Given the description of an element on the screen output the (x, y) to click on. 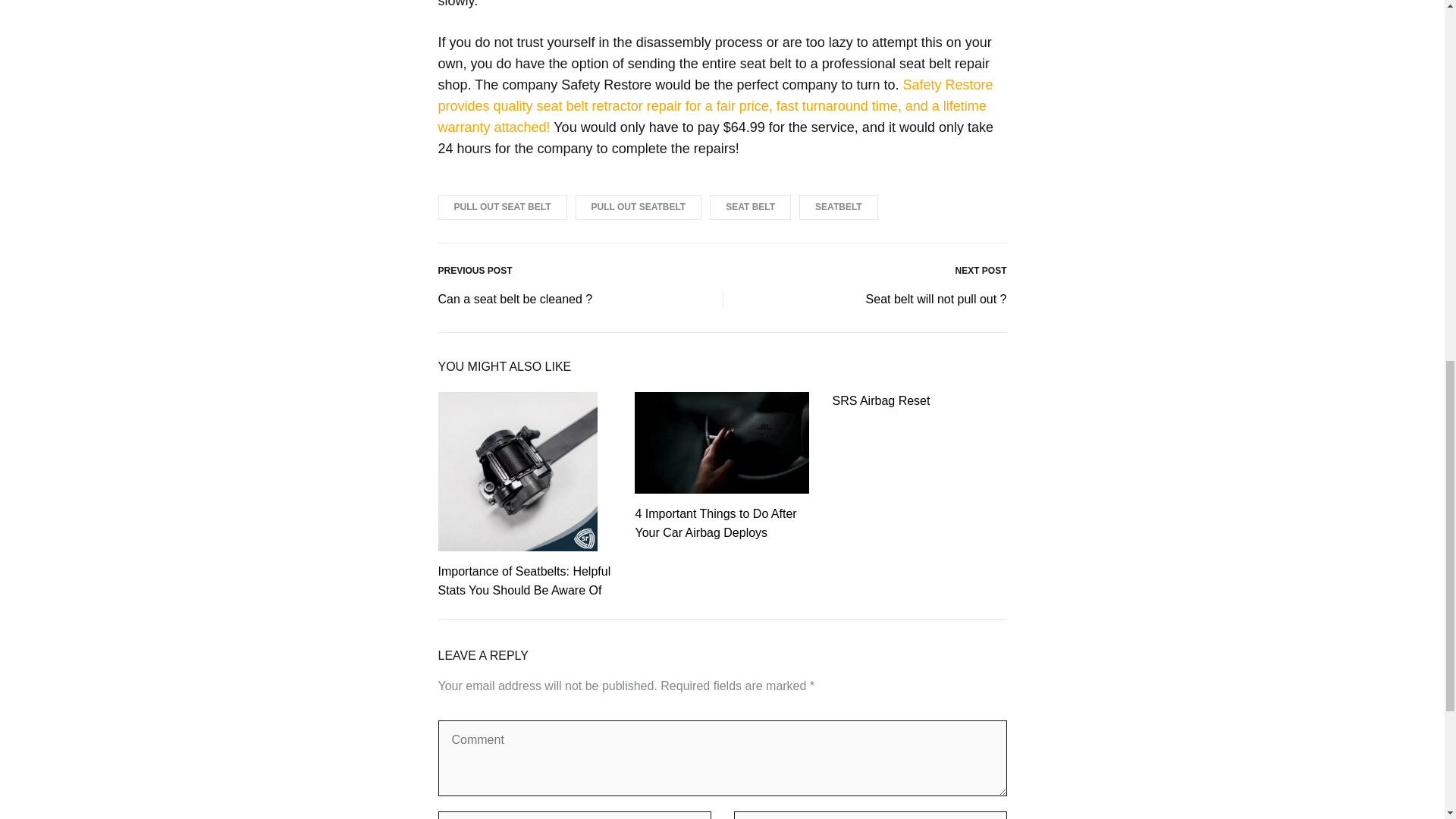
Seat belt will not pull out ? (936, 299)
SEATBELT (838, 207)
SRS Airbag Reset (880, 400)
PULL OUT SEAT BELT (502, 207)
PULL OUT SEATBELT (638, 207)
Can a seat belt be cleaned ? (515, 299)
SEAT BELT (750, 207)
4 Important Things to Do After Your Car Airbag Deploys (715, 522)
